Given the description of an element on the screen output the (x, y) to click on. 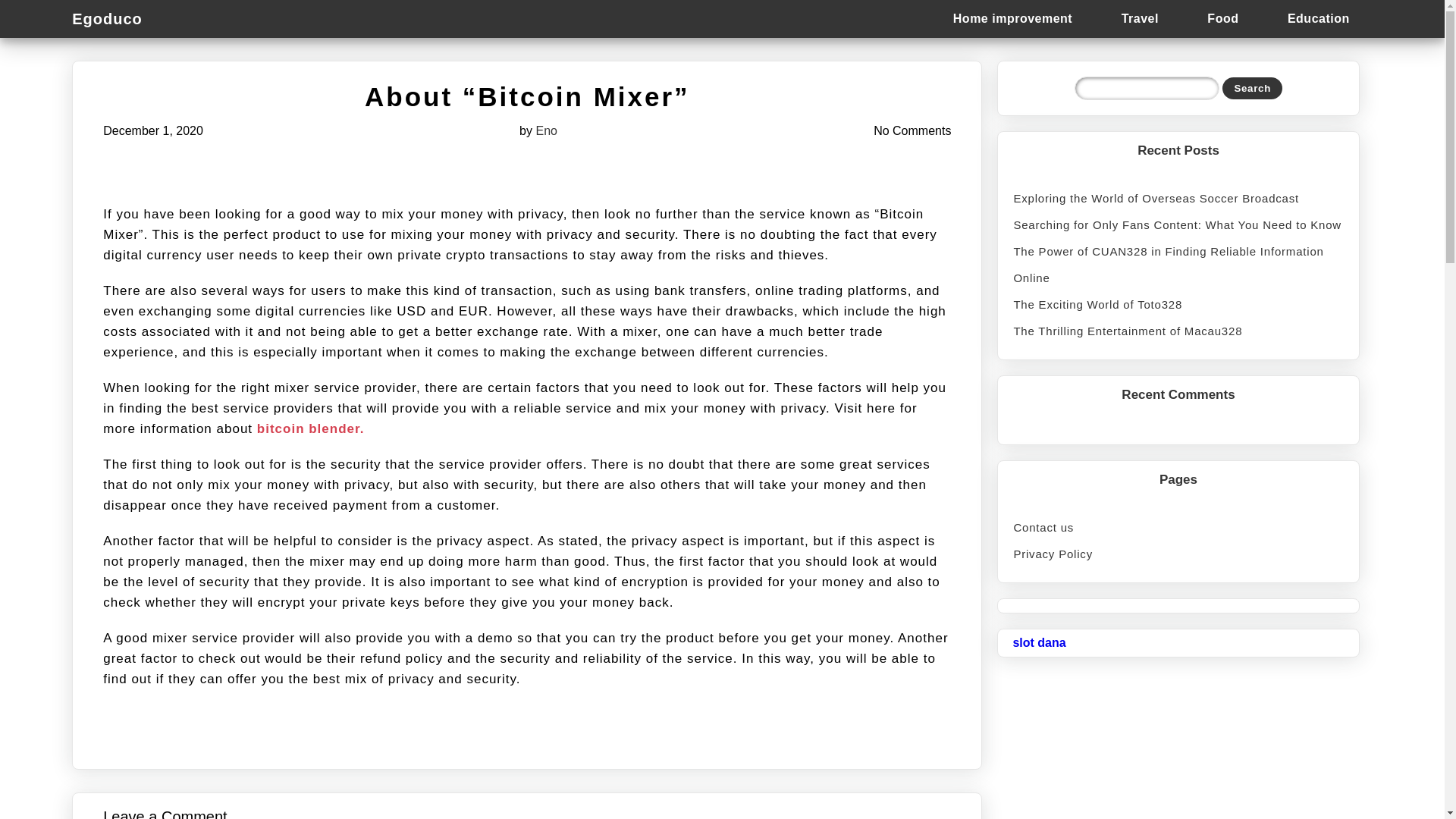
Searching for Only Fans Content: What You Need to Know (1177, 224)
Exploring the World of Overseas Soccer Broadcast (1177, 198)
Eno (545, 130)
Privacy Policy (1177, 553)
slot dana (1038, 642)
The Thrilling Entertainment of Macau328 (1177, 330)
Food (1222, 18)
Posts by Eno (545, 130)
Egoduco (114, 18)
The Exciting World of Toto328 (1177, 304)
bitcoin blender. (311, 428)
Education (1318, 18)
The Power of CUAN328 in Finding Reliable Information Online (1177, 264)
Contact us (1177, 527)
Search (1252, 87)
